Given the description of an element on the screen output the (x, y) to click on. 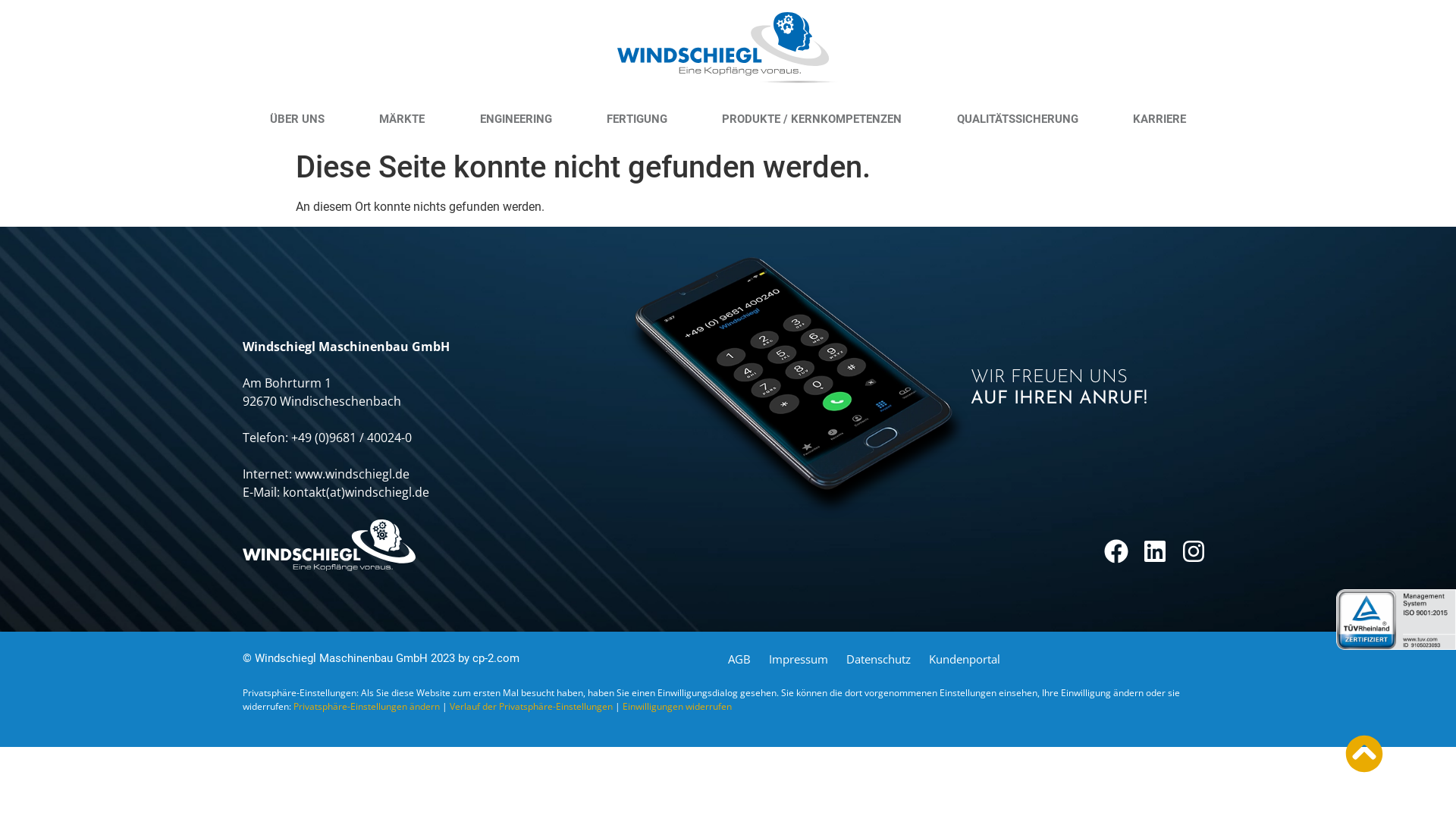
Kundenportal Element type: text (964, 658)
ENGINEERING Element type: text (515, 118)
cp-2.com Element type: text (495, 658)
kontakt(at)windschiegl.de Element type: text (355, 491)
AGB Element type: text (739, 658)
FERTIGUNG Element type: text (636, 118)
www.windschiegl.de Element type: text (351, 473)
Impressum Element type: text (798, 658)
Einwilligungen widerrufen Element type: text (676, 705)
PRODUKTE / KERNKOMPETENZEN Element type: text (811, 118)
Datenschutz Element type: text (878, 658)
KARRIERE Element type: text (1159, 118)
+49 (0)9681 / 40024-0 Element type: text (351, 437)
